Given the description of an element on the screen output the (x, y) to click on. 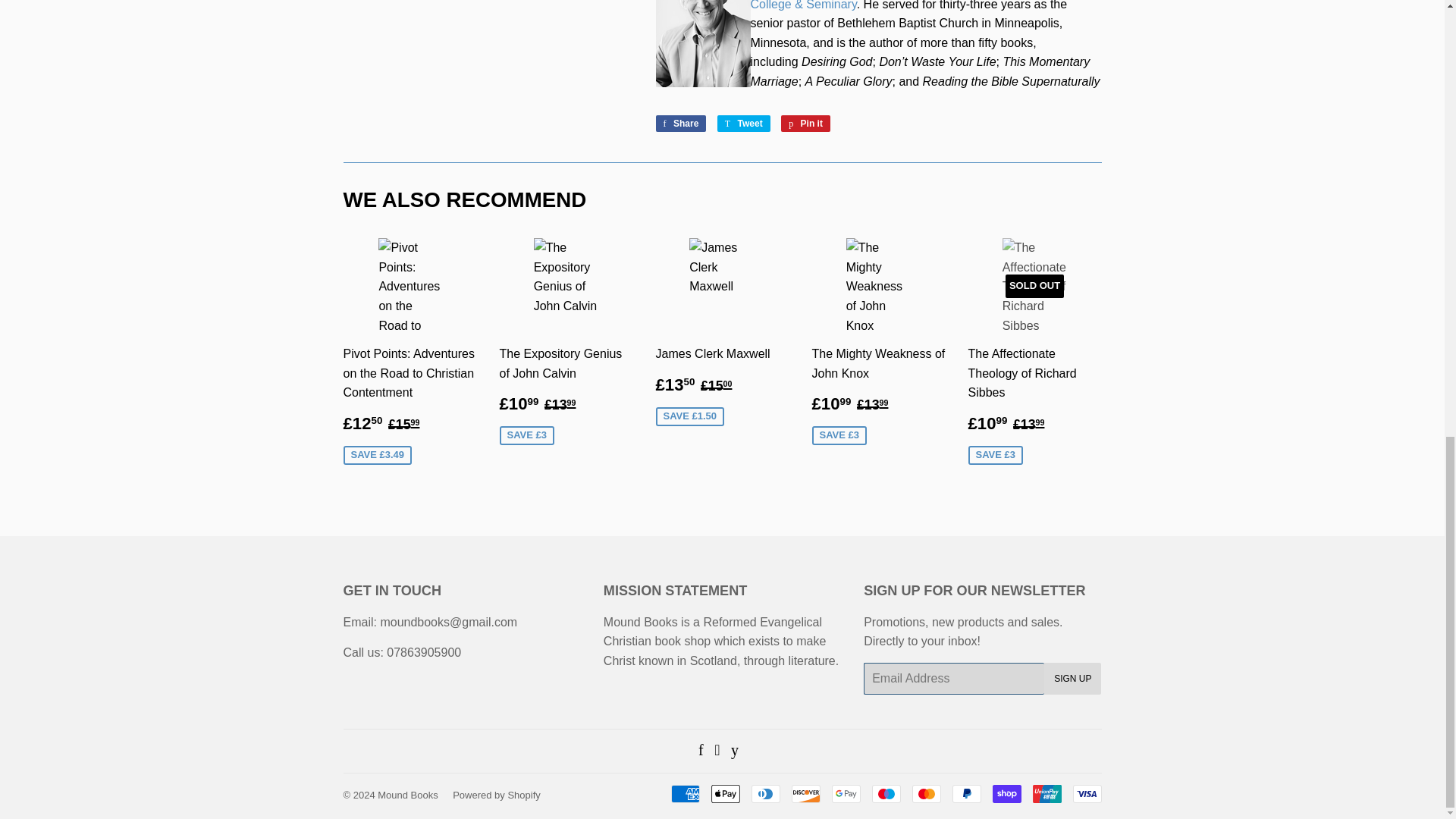
Mastercard (925, 793)
Discover (806, 793)
Apple Pay (725, 793)
Google Pay (845, 793)
Shop Pay (1005, 793)
Share on Facebook (680, 123)
PayPal (966, 793)
Union Pay (1046, 793)
Tweet on Twitter (743, 123)
Maestro (886, 793)
Pin on Pinterest (804, 123)
American Express (683, 793)
Visa (1085, 793)
Diners Club (764, 793)
